Given the description of an element on the screen output the (x, y) to click on. 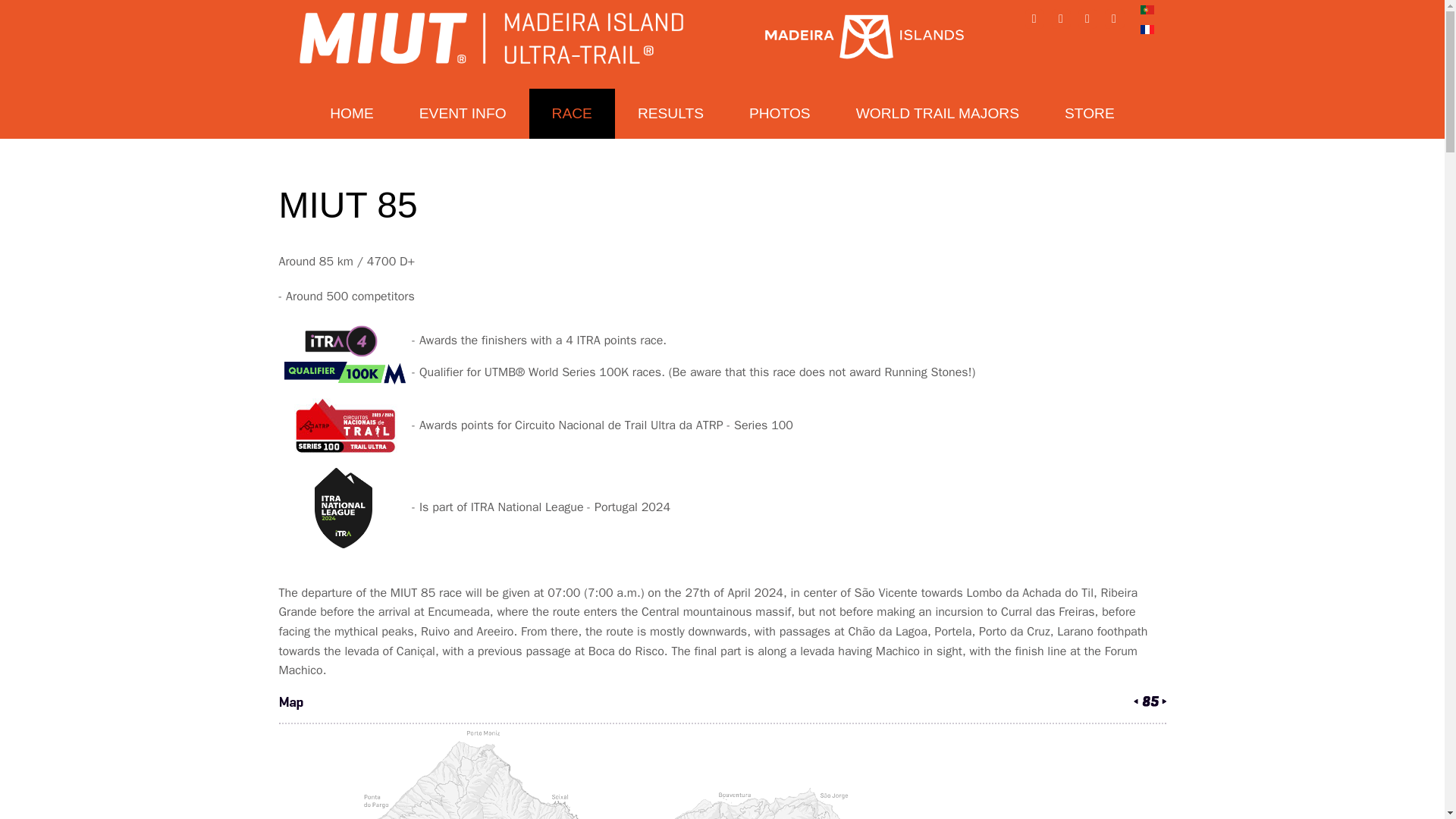
Instagram (1061, 18)
EVENT INFO (462, 113)
HOME (351, 113)
RESULTS (670, 113)
fr-FR (1147, 29)
pt-PT (1147, 9)
Twitter (1087, 18)
YouTube (1114, 18)
Facebook (1035, 18)
RACE (571, 113)
